Given the description of an element on the screen output the (x, y) to click on. 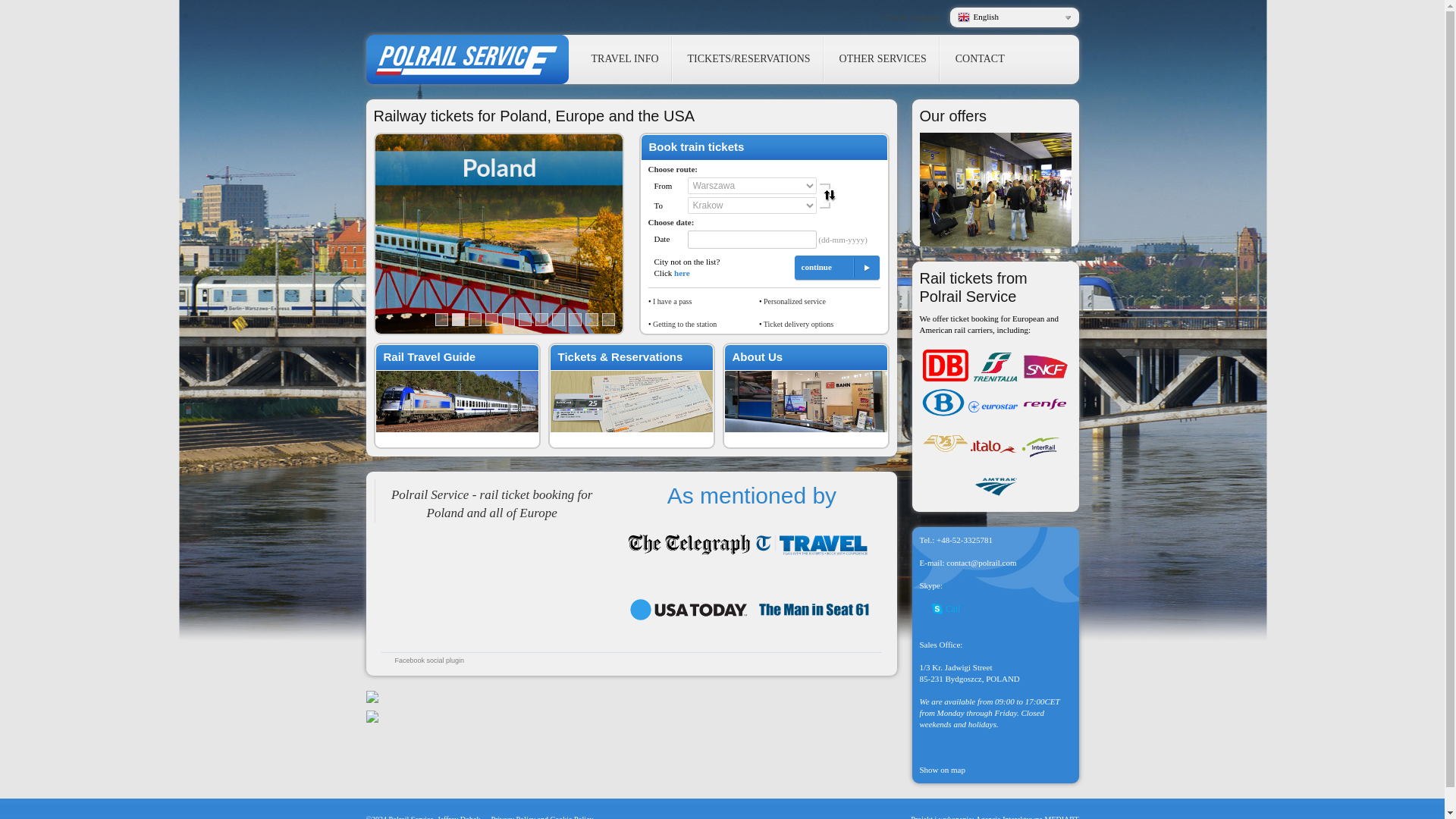
Eurostar (992, 406)
DB Bahn (944, 365)
TRAVEL INFO (624, 59)
Ukrainian railways (944, 443)
Rail-Air Links in Poland (684, 324)
Booking when you have a pass (671, 301)
Getting your rail tickets (797, 324)
Trenitalia logo (994, 366)
Read about the Polrail Service Advantage (793, 301)
Amtrak (994, 485)
